Given the description of an element on the screen output the (x, y) to click on. 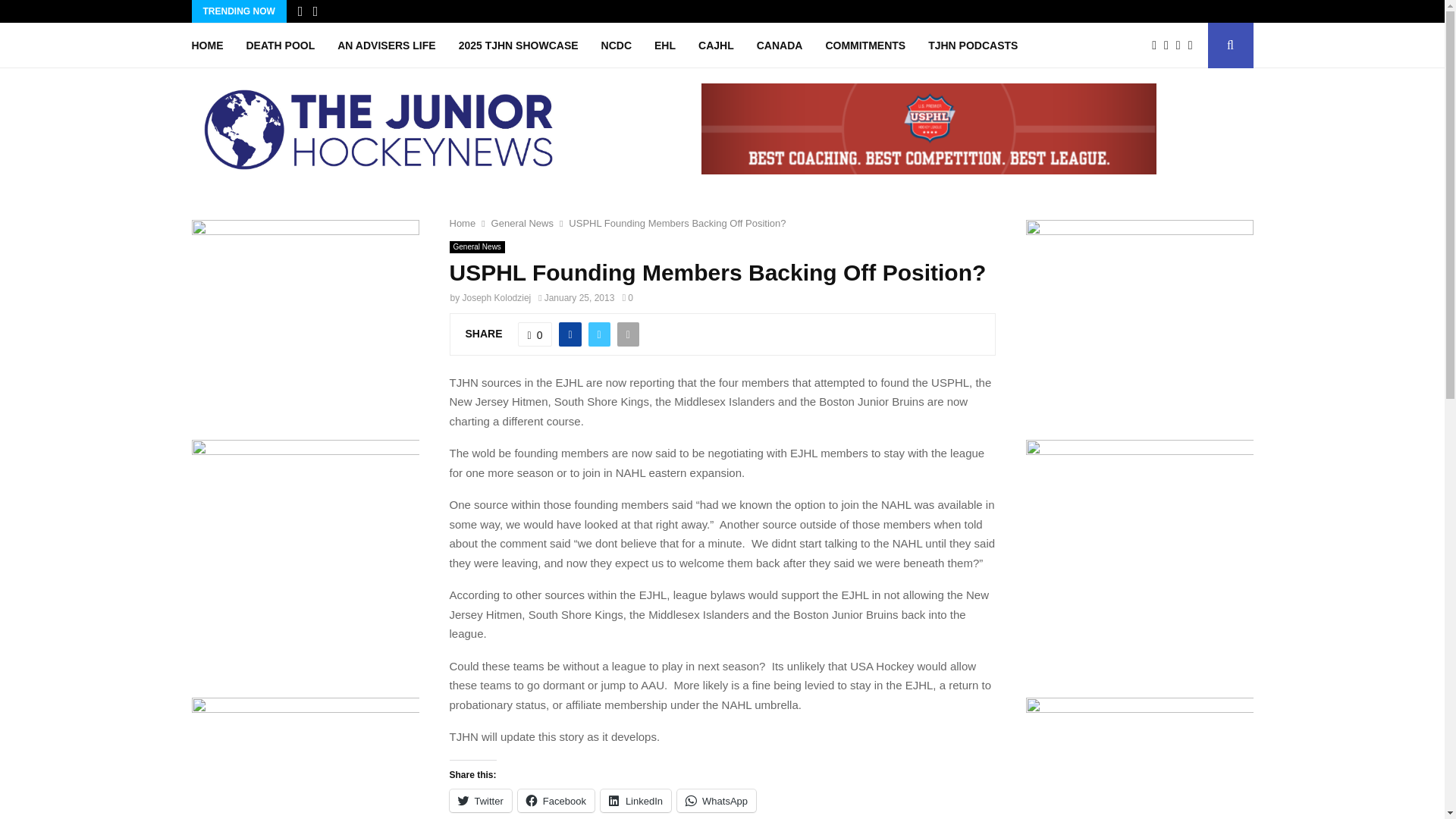
COMMITMENTS (865, 44)
TJHN PODCASTS (972, 44)
Click to share on Twitter (479, 800)
Click to share on LinkedIn (635, 800)
0 (535, 334)
AN ADVISERS LIFE (386, 44)
0 (626, 297)
Click to share on Facebook (556, 800)
Joseph Kolodziej (497, 297)
2025 TJHN SHOWCASE (518, 44)
